Given the description of an element on the screen output the (x, y) to click on. 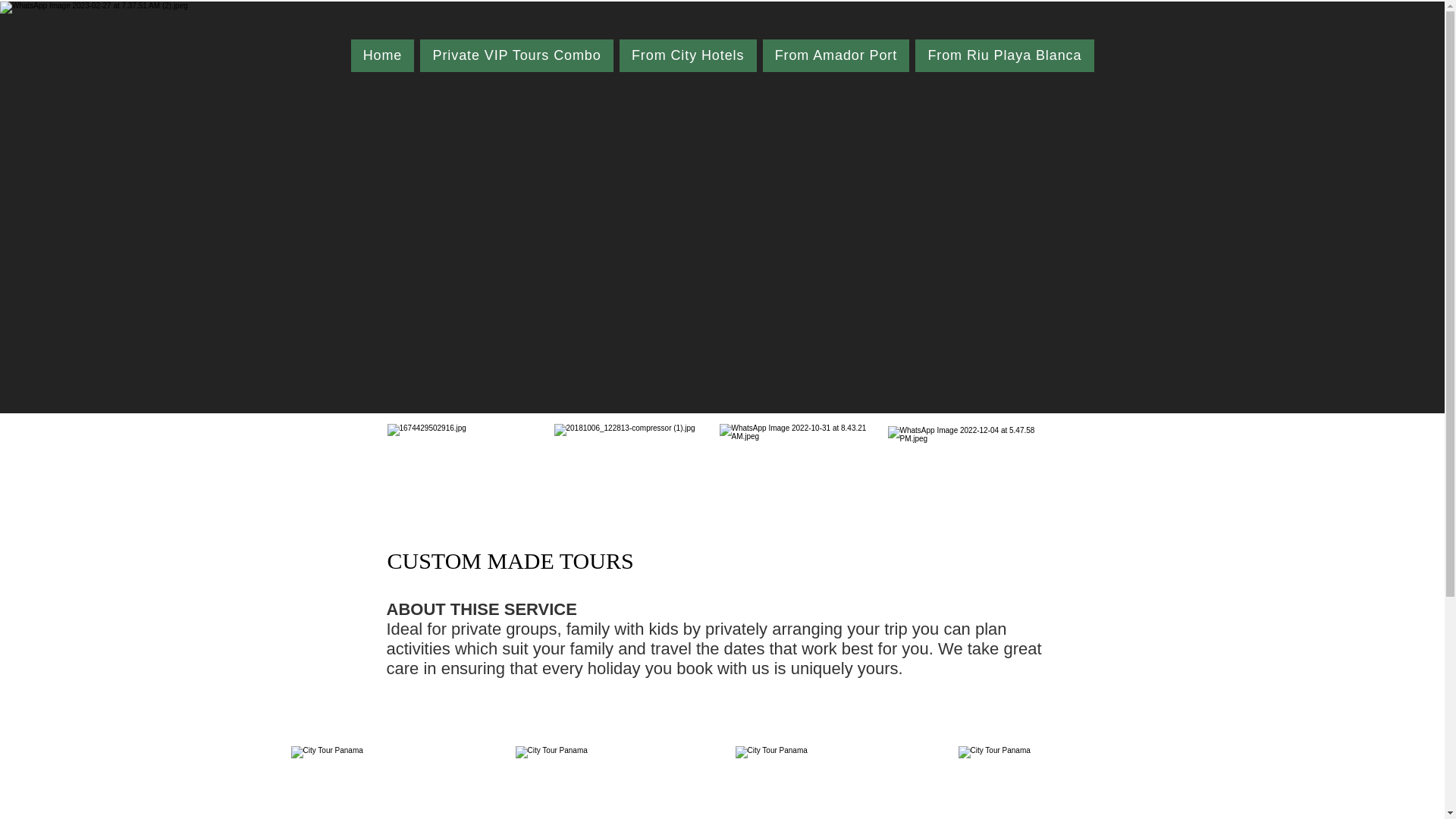
Home (381, 55)
From Riu Playa Blanca (1004, 55)
Private VIP Tours Combo (516, 55)
From City Hotels (688, 55)
From Amador Port (836, 55)
